Given the description of an element on the screen output the (x, y) to click on. 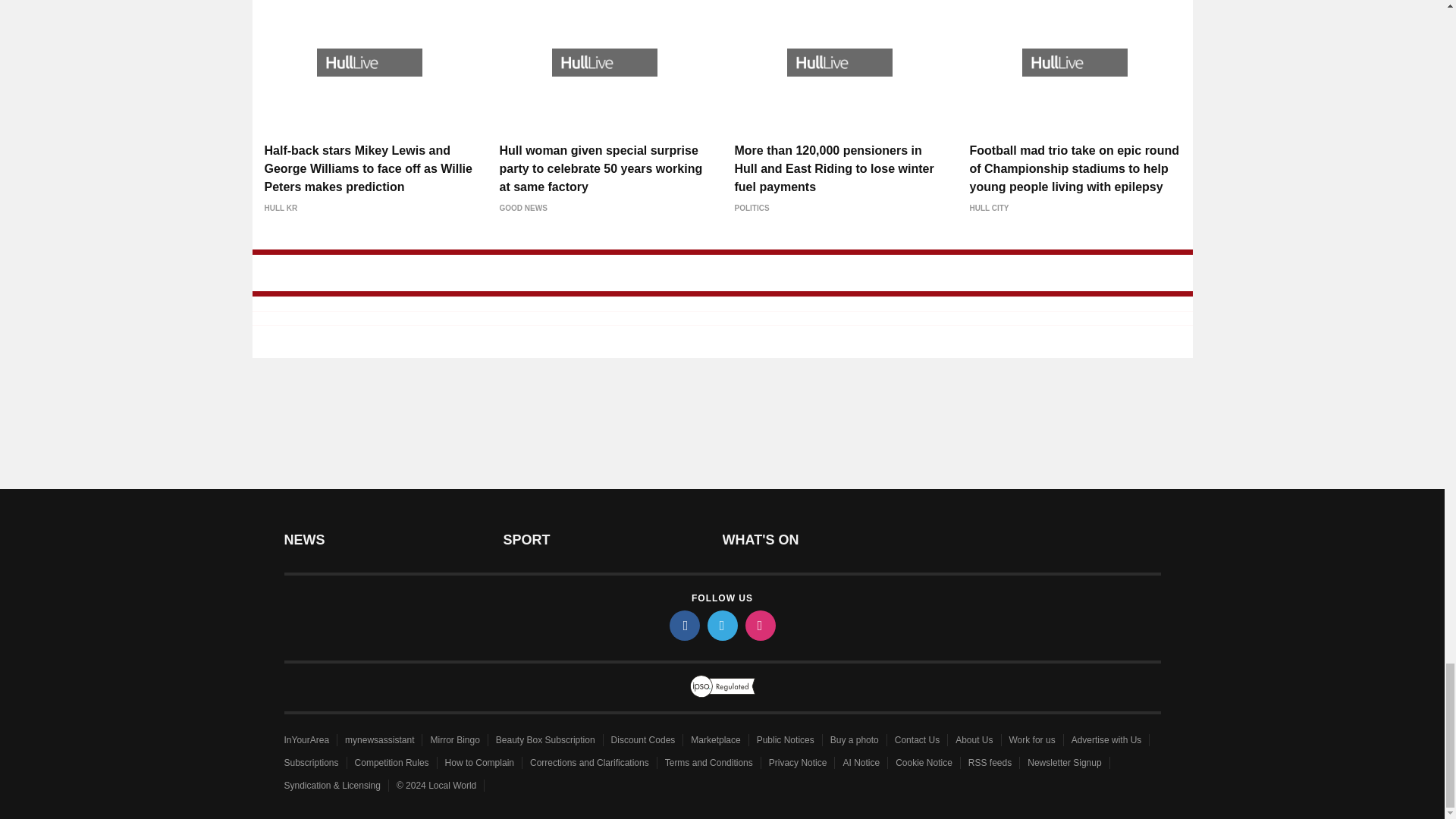
facebook (683, 625)
instagram (759, 625)
twitter (721, 625)
